Given the description of an element on the screen output the (x, y) to click on. 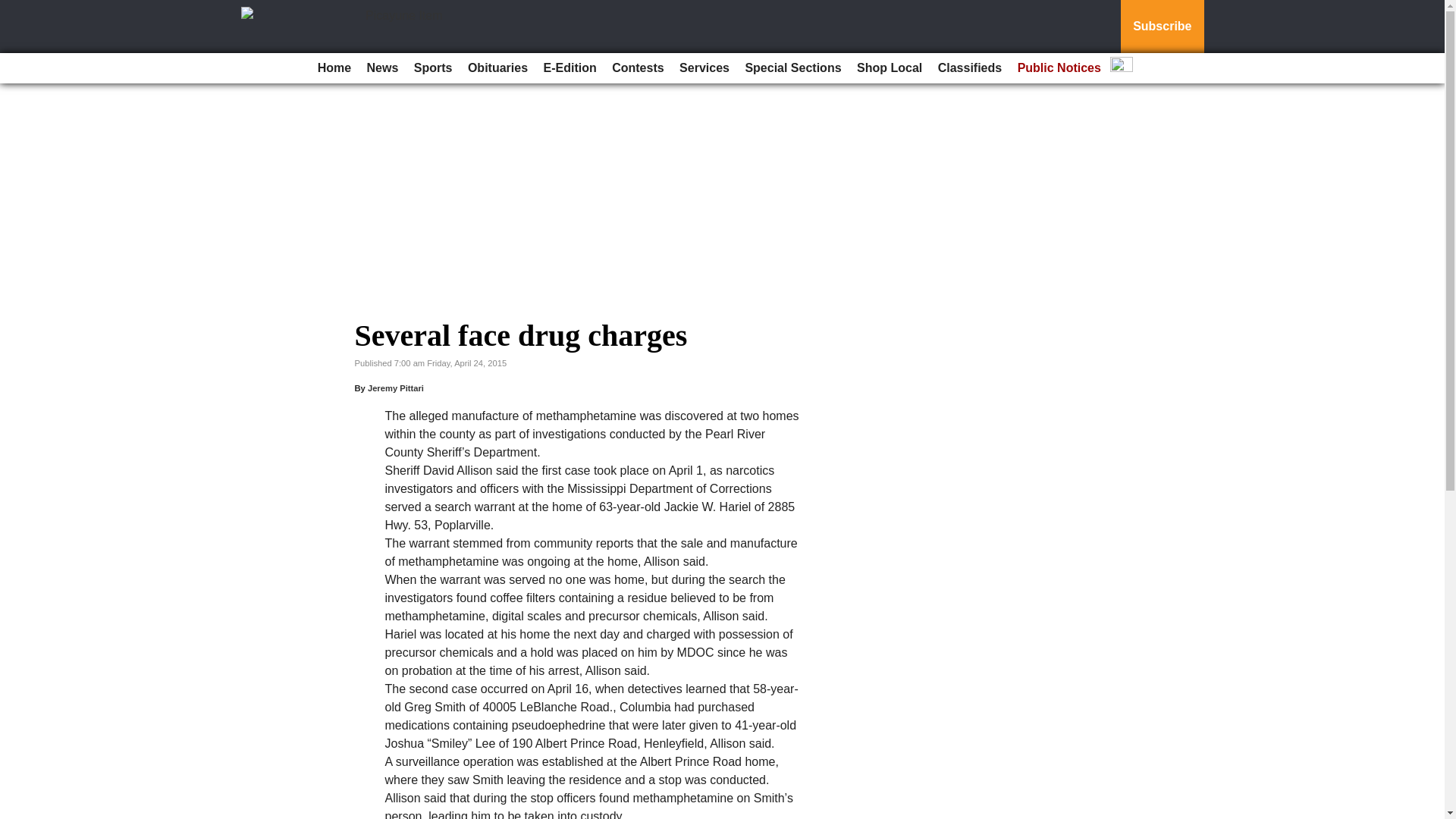
Classifieds (969, 68)
Jeremy Pittari (395, 388)
Home (333, 68)
E-Edition (569, 68)
News (382, 68)
Sports (432, 68)
Contests (637, 68)
Shop Local (889, 68)
Public Notices (1058, 68)
Obituaries (497, 68)
Go (13, 9)
Subscribe (1162, 26)
Services (703, 68)
Special Sections (792, 68)
